Given the description of an element on the screen output the (x, y) to click on. 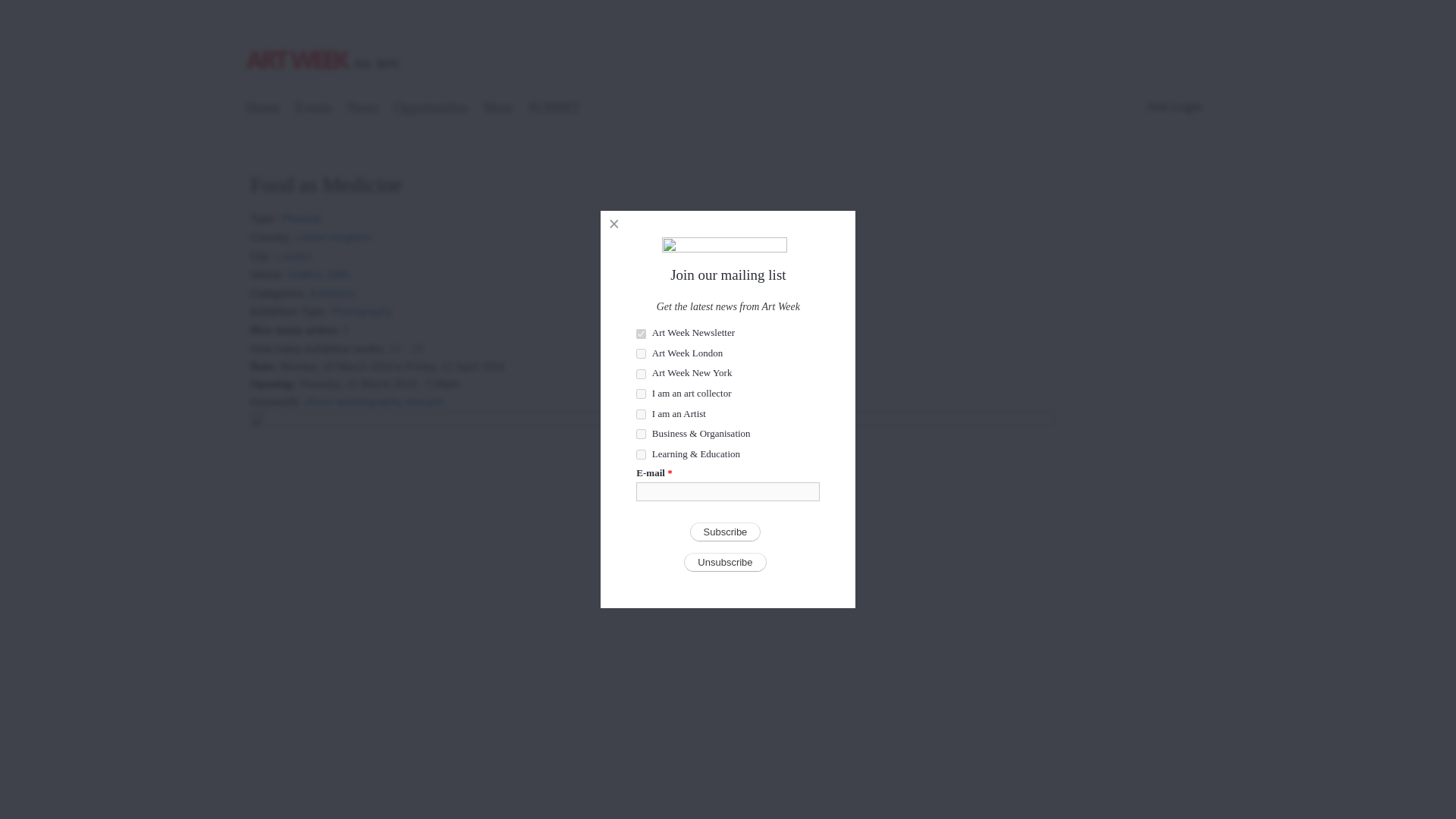
London (294, 251)
Physical (301, 213)
6189 (641, 433)
SUBMIT (553, 109)
30824 (641, 374)
Login (1186, 106)
Home (325, 43)
News (362, 109)
Home (263, 109)
11700 (641, 454)
Subscribe (725, 531)
Events (313, 109)
729 (641, 334)
17672 (641, 393)
Join (1157, 106)
